Given the description of an element on the screen output the (x, y) to click on. 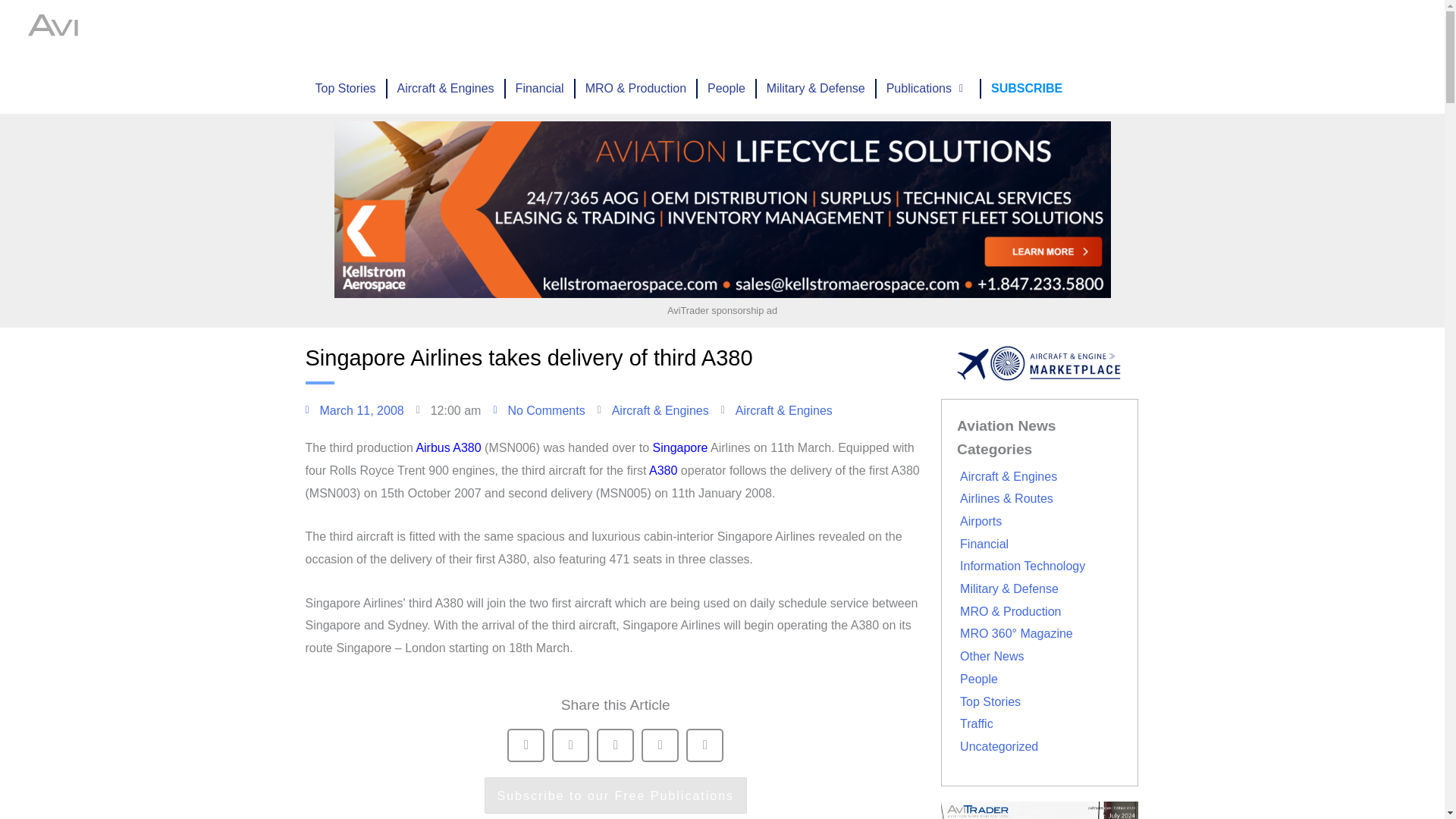
Advertising (681, 31)
Upcoming Events (583, 31)
Contact Us (1021, 31)
Our Team (949, 31)
About AviTrader (863, 31)
Posts tagged with Singapore (679, 447)
Posts tagged with A380 (663, 470)
Posts tagged with Airbus A380 (447, 447)
